Given the description of an element on the screen output the (x, y) to click on. 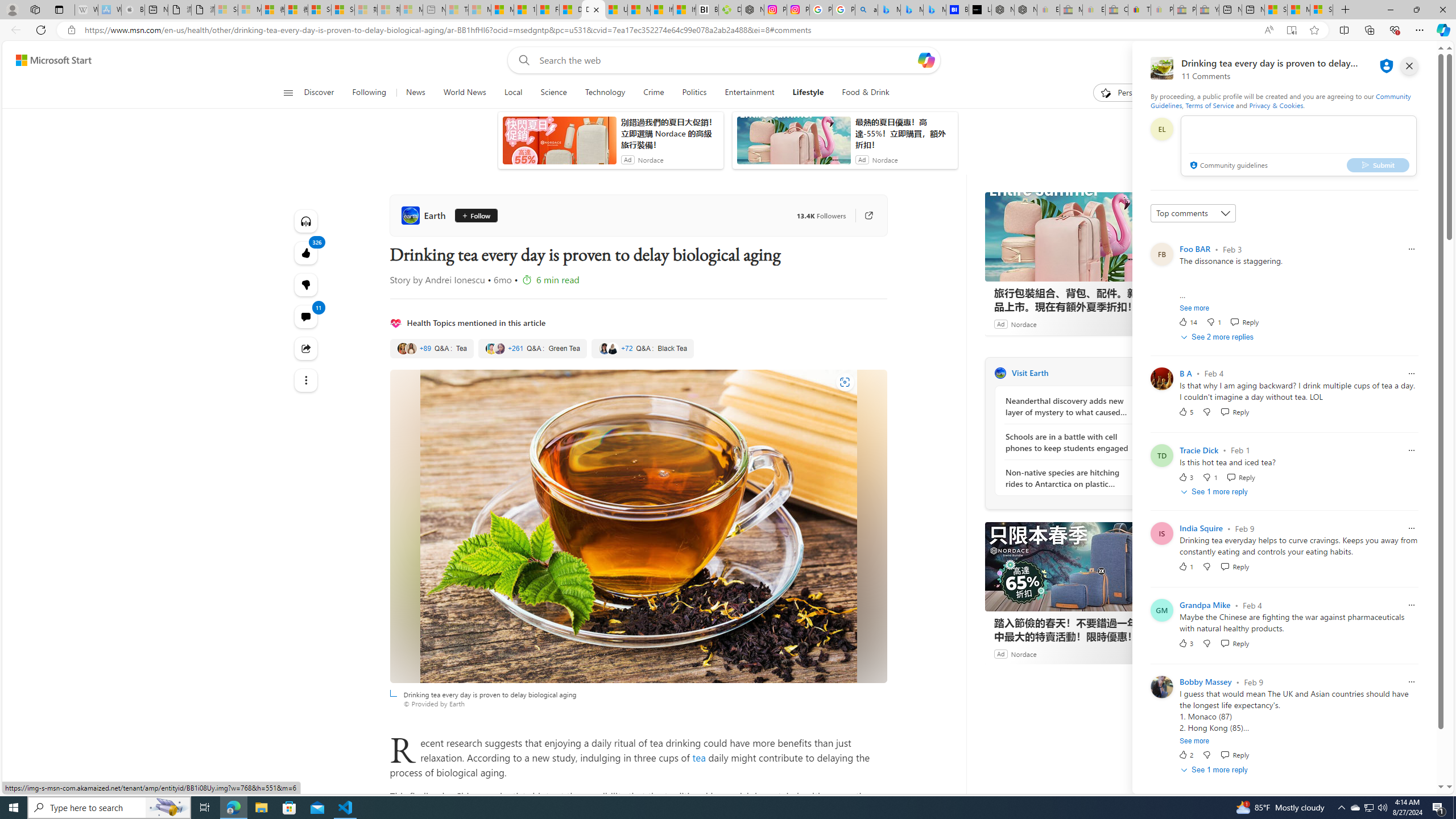
Tracie Dick (1198, 449)
Discover (319, 92)
Address and search bar (669, 29)
Terms of Service (1209, 104)
Black Tea (642, 348)
Skip to footer (46, 59)
Report comment (1411, 681)
Dislike (1207, 754)
Lifestyle (808, 92)
Technology (605, 92)
Drinking tea every day is proven to delay biological aging (593, 9)
3 Like (1185, 643)
